Given the description of an element on the screen output the (x, y) to click on. 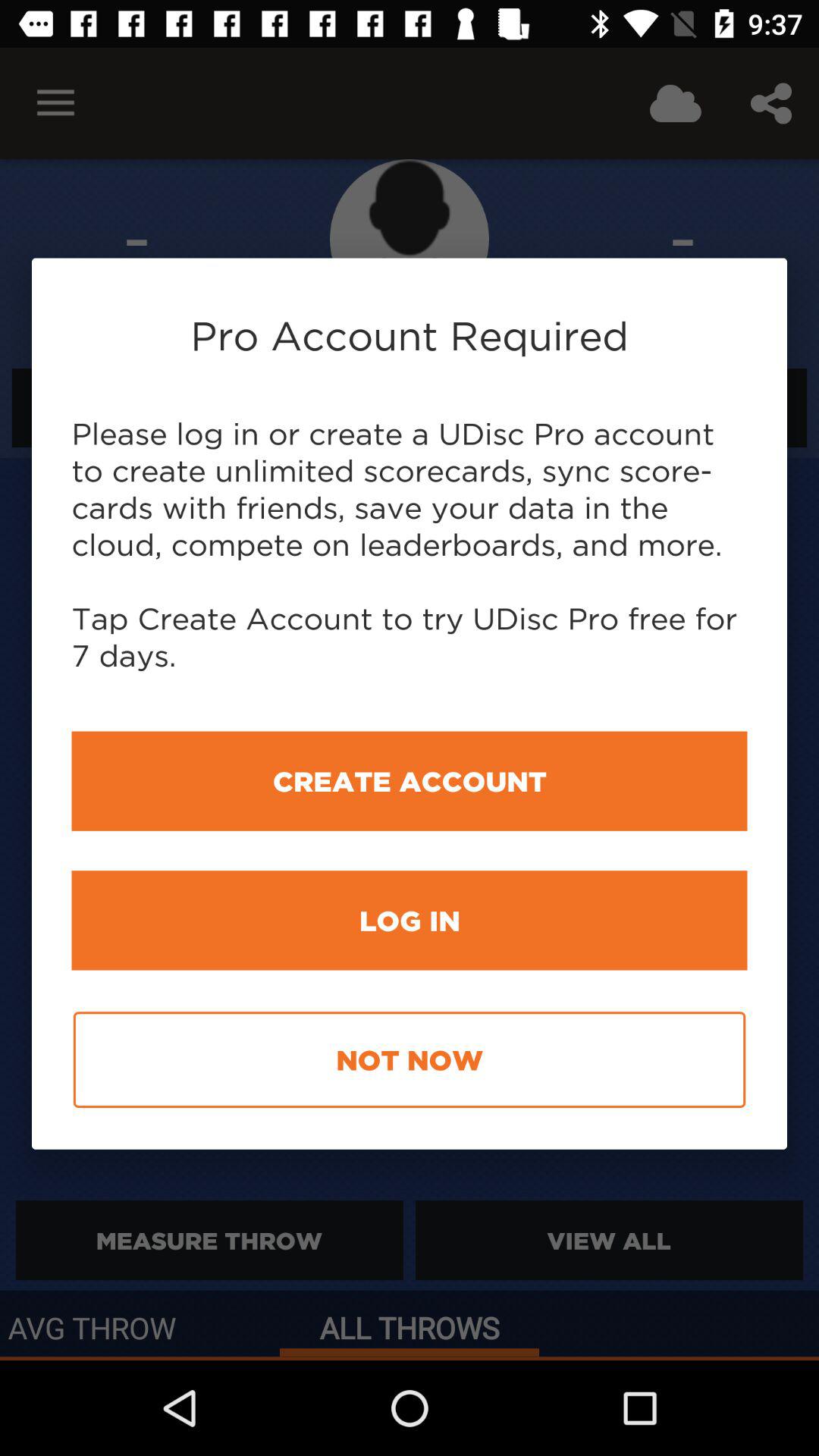
open the not now item (409, 1059)
